Given the description of an element on the screen output the (x, y) to click on. 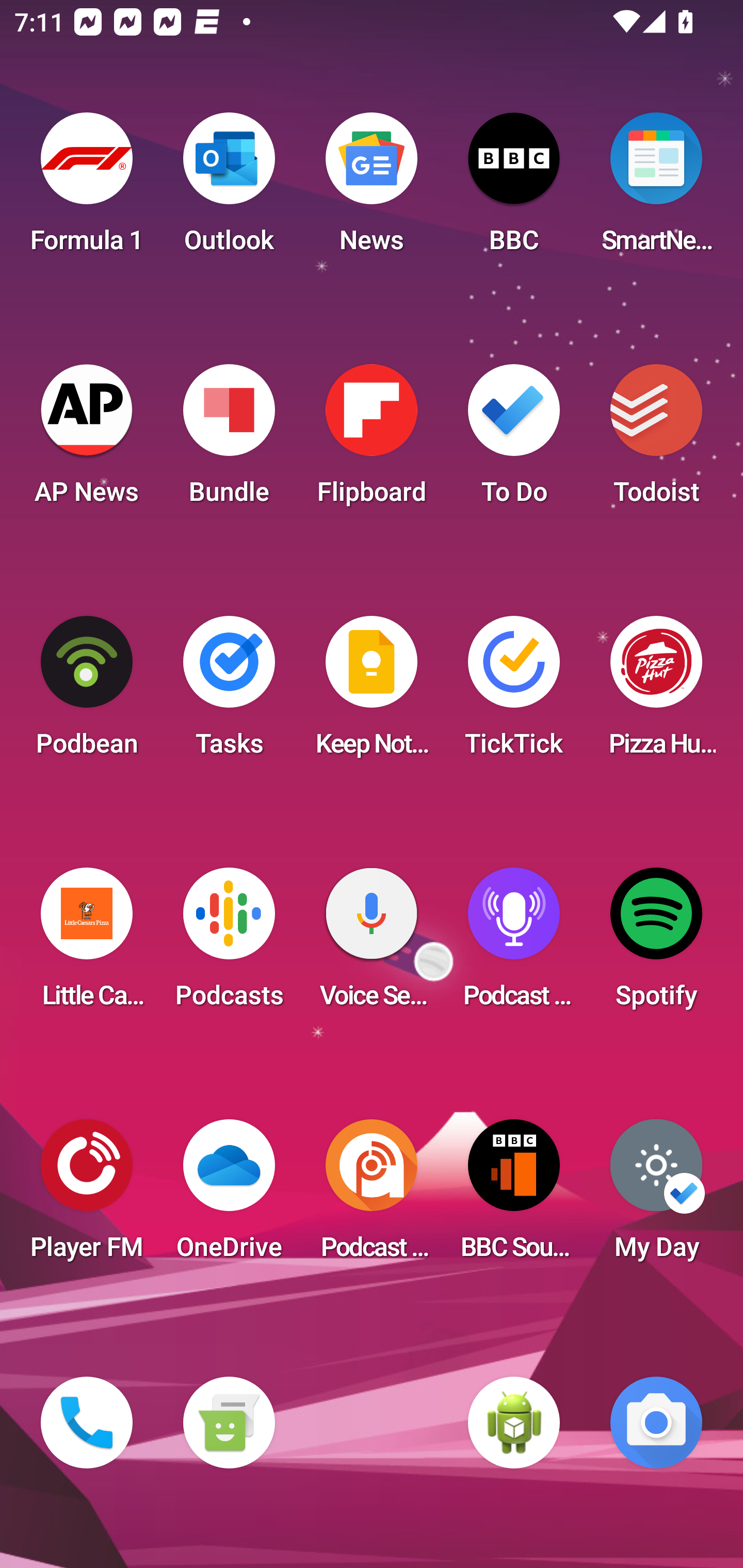
Formula 1 (86, 188)
Outlook (228, 188)
News (371, 188)
BBC (513, 188)
SmartNews (656, 188)
AP News (86, 440)
Bundle (228, 440)
Flipboard (371, 440)
To Do (513, 440)
Todoist (656, 440)
Podbean (86, 692)
Tasks (228, 692)
Keep Notes (371, 692)
TickTick (513, 692)
Pizza Hut HK & Macau (656, 692)
Little Caesars Pizza (86, 943)
Podcasts (228, 943)
Voice Search (371, 943)
Podcast Player (513, 943)
Spotify (656, 943)
Player FM (86, 1195)
OneDrive (228, 1195)
Podcast Addict (371, 1195)
BBC Sounds (513, 1195)
My Day (656, 1195)
Phone (86, 1422)
Messaging (228, 1422)
WebView Browser Tester (513, 1422)
Camera (656, 1422)
